Given the description of an element on the screen output the (x, y) to click on. 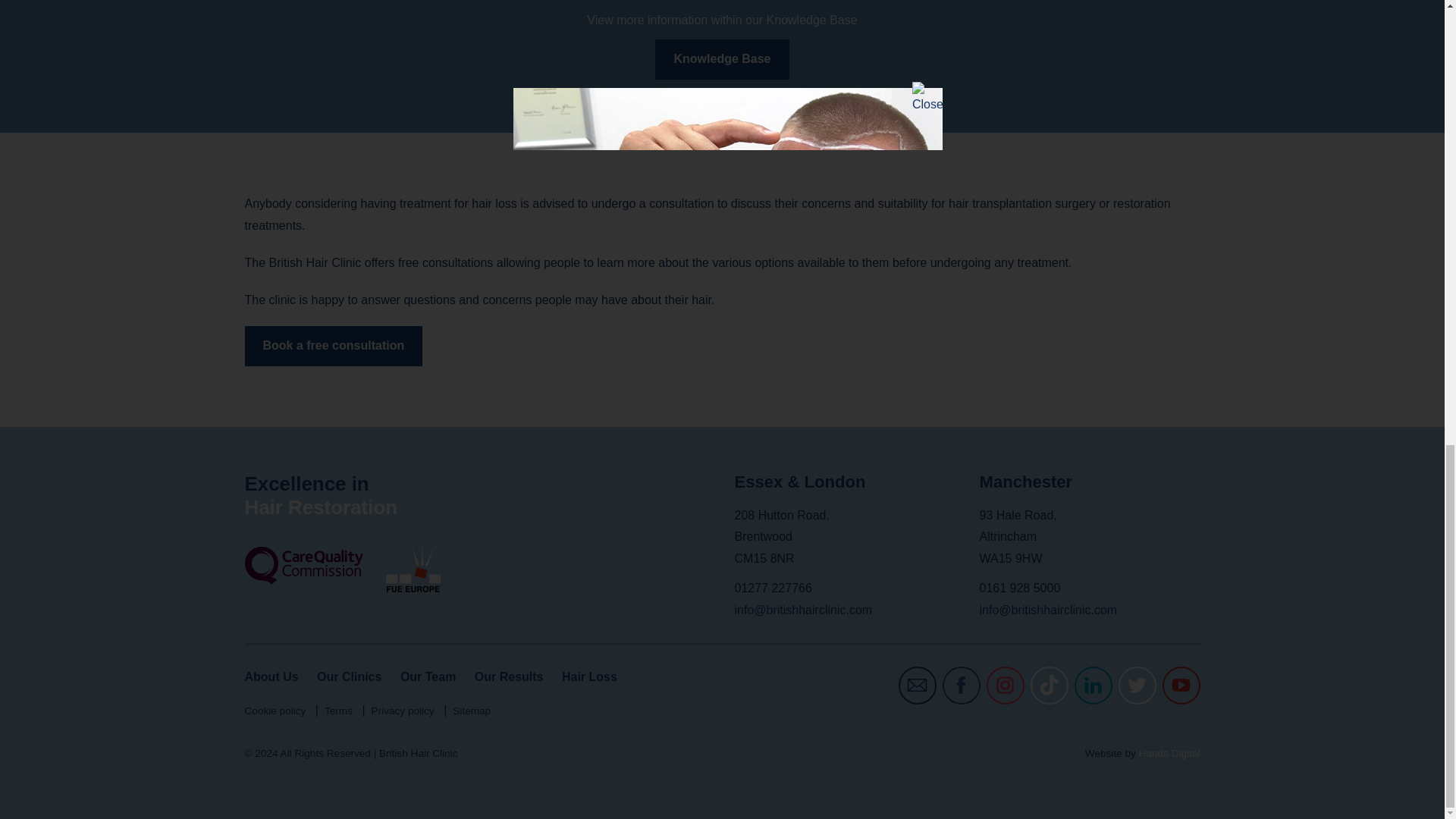
Terms (338, 710)
Our Clinics (349, 676)
Book a free consultation (333, 345)
Hair Loss (589, 676)
Cookie policy (274, 710)
Our Results (508, 676)
Knowledge Base (722, 59)
Our Team (428, 676)
About Us (271, 676)
